Given the description of an element on the screen output the (x, y) to click on. 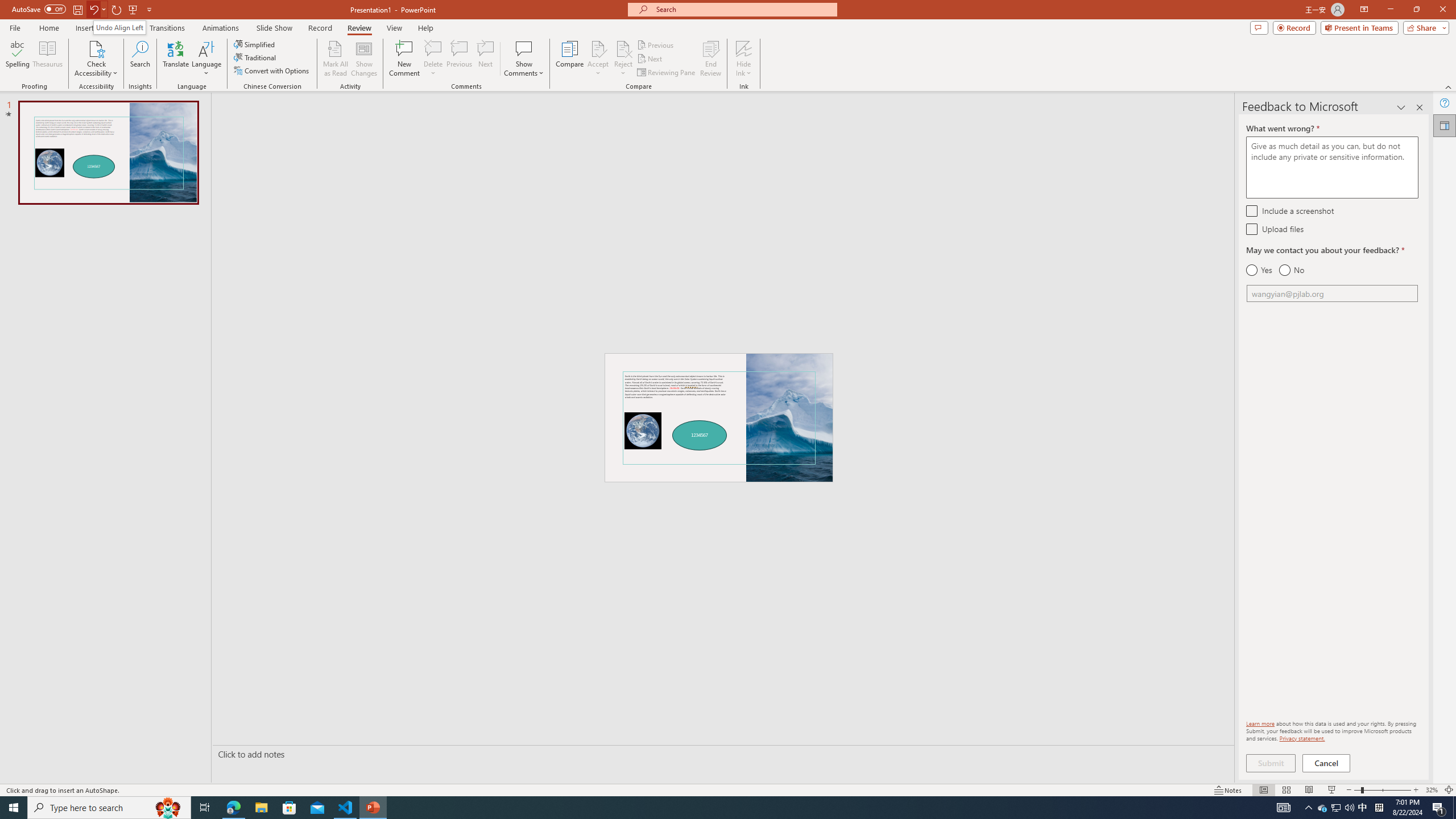
Privacy statement. (1301, 738)
Compare (569, 58)
Delete (432, 58)
Search (140, 58)
Learn more (1260, 723)
Undo Align Left (119, 27)
Include a screenshot (1251, 210)
